Given the description of an element on the screen output the (x, y) to click on. 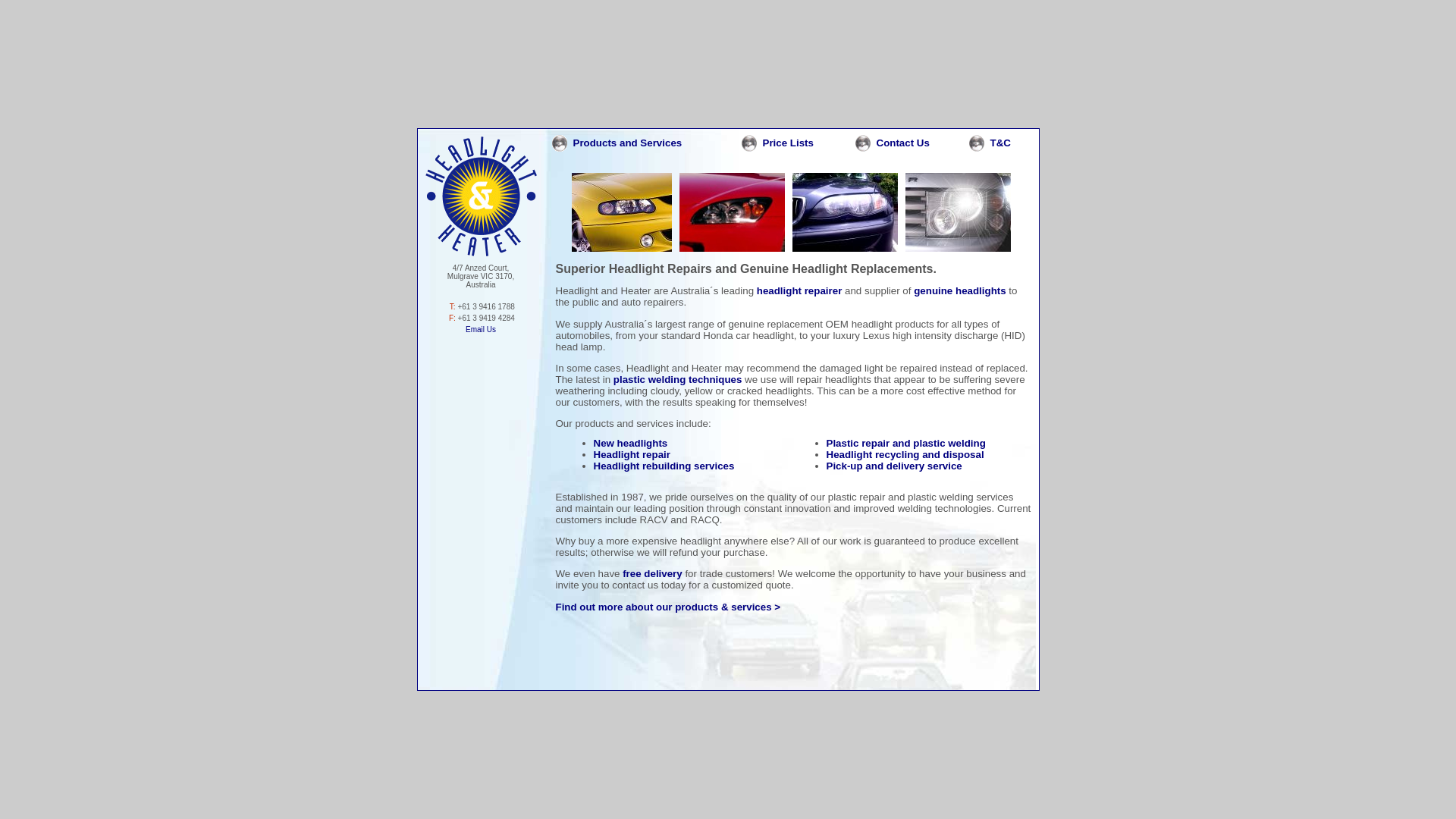
Contact Us Element type: text (902, 142)
Email Us Element type: text (480, 328)
genuine headlights Element type: text (959, 290)
Headlight rebuilding services Element type: text (663, 465)
headlight repairer Element type: text (799, 290)
plastic welding techniques Element type: text (677, 379)
New headlights Element type: text (630, 442)
Pick-up and delivery service Element type: text (894, 465)
free delivery Element type: text (652, 573)
T&C Element type: text (1000, 142)
Price Lists Element type: text (786, 142)
Products and Services Element type: text (627, 142)
Plastic repair and plastic welding Element type: text (905, 442)
Find out more about our products & services > Element type: text (667, 606)
Headlight repair Element type: text (631, 454)
Headlight recycling and disposal Element type: text (905, 454)
